Given the description of an element on the screen output the (x, y) to click on. 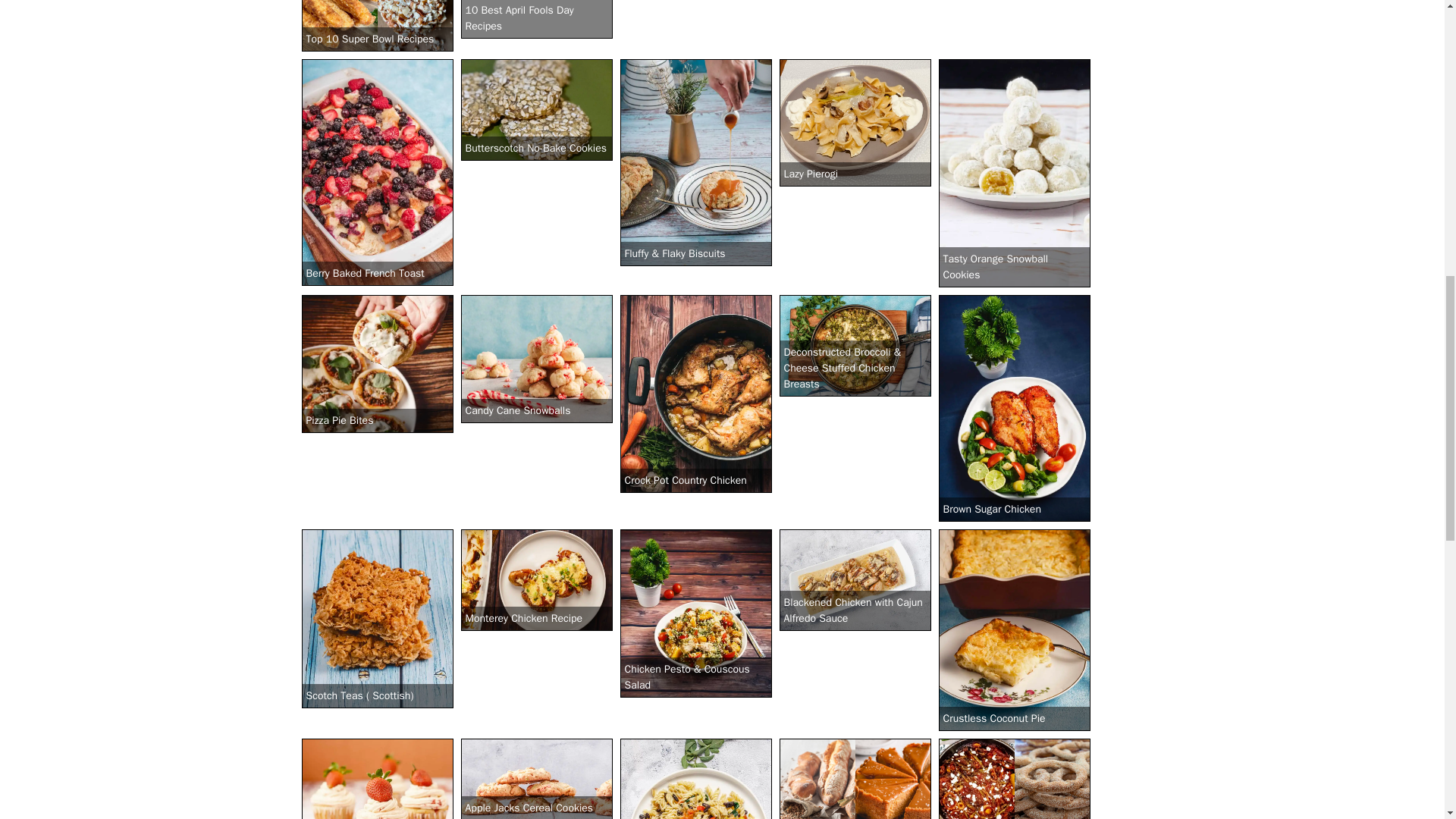
Pizza Pie Bites (376, 363)
Butterscotch No-Bake Cookies (536, 109)
10 Best April Fools Day Recipes (536, 19)
Top 10 Super Bowl Recipes (376, 25)
Candy Cane Snowballs (536, 358)
Lazy Pierogi (854, 122)
Monterey Chicken Recipe (536, 579)
